Given the description of an element on the screen output the (x, y) to click on. 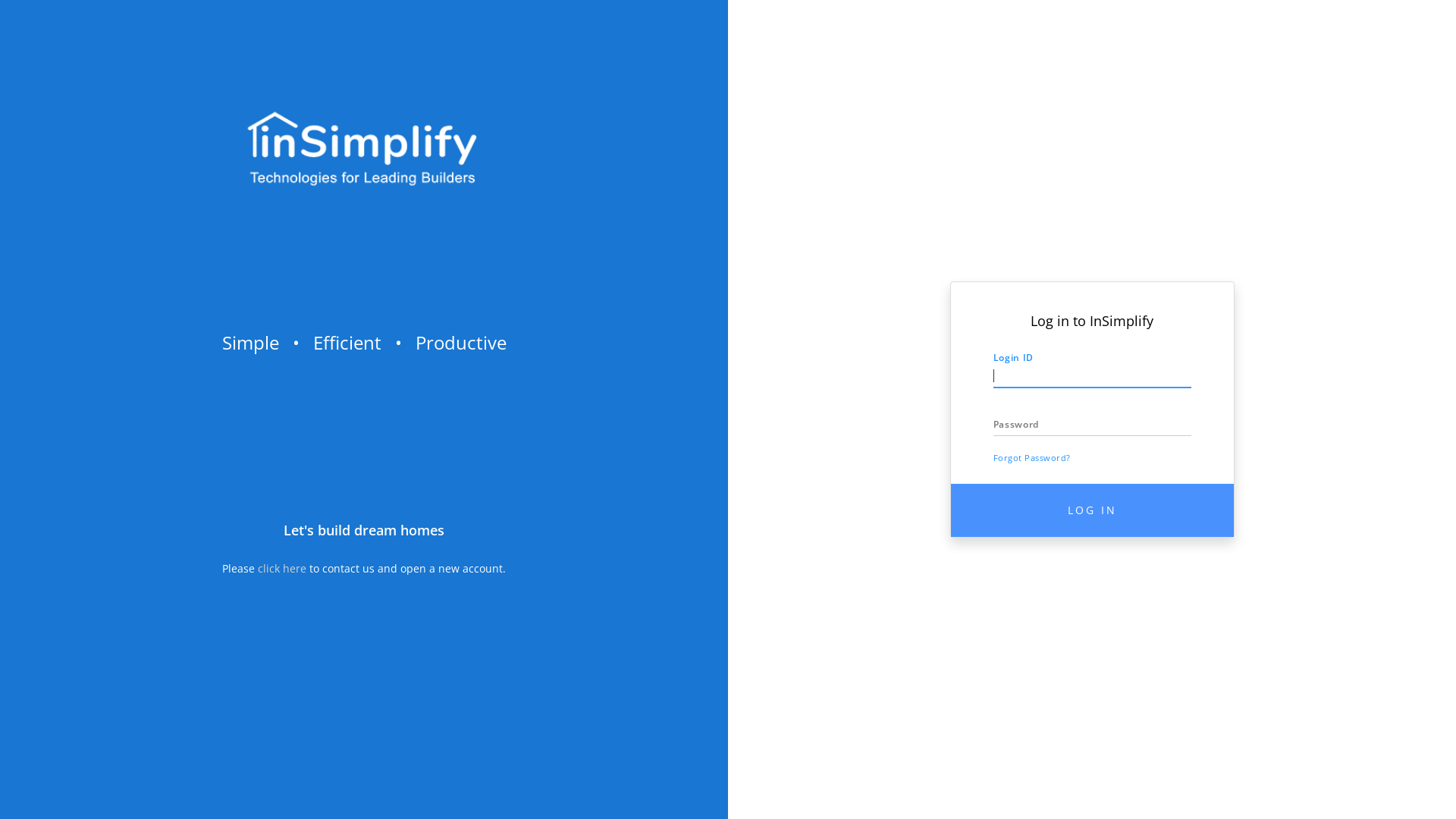
click here Element type: text (281, 568)
LOG IN Element type: text (1091, 509)
Forgot Password? Element type: text (1031, 457)
